Given the description of an element on the screen output the (x, y) to click on. 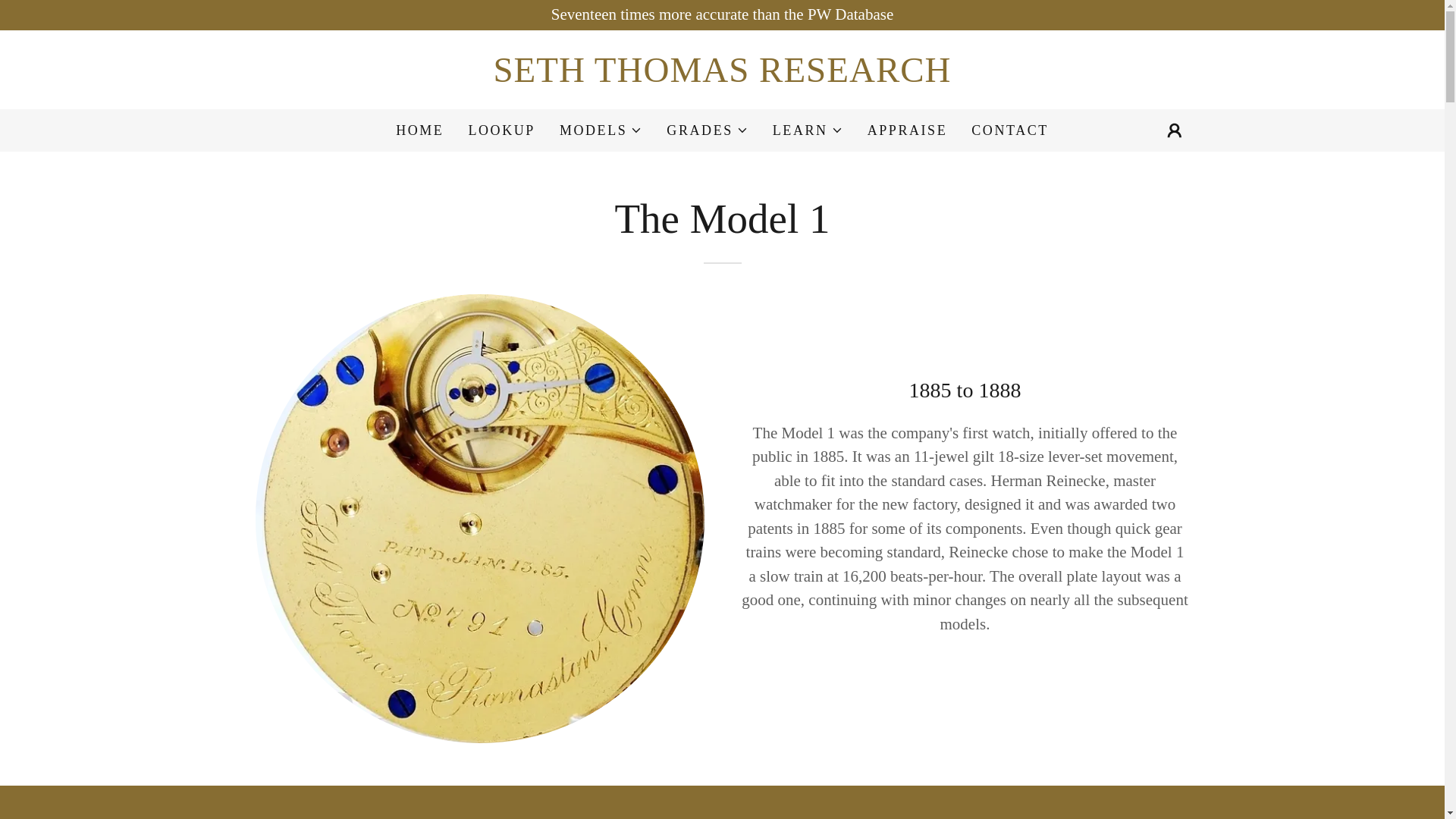
Seth Thomas Research (721, 75)
APPRAISE (907, 130)
HOME (419, 130)
GRADES (707, 130)
CONTACT (1009, 130)
MODELS (600, 130)
LEARN (808, 130)
SETH THOMAS RESEARCH (721, 75)
LOOKUP (500, 130)
